Given the description of an element on the screen output the (x, y) to click on. 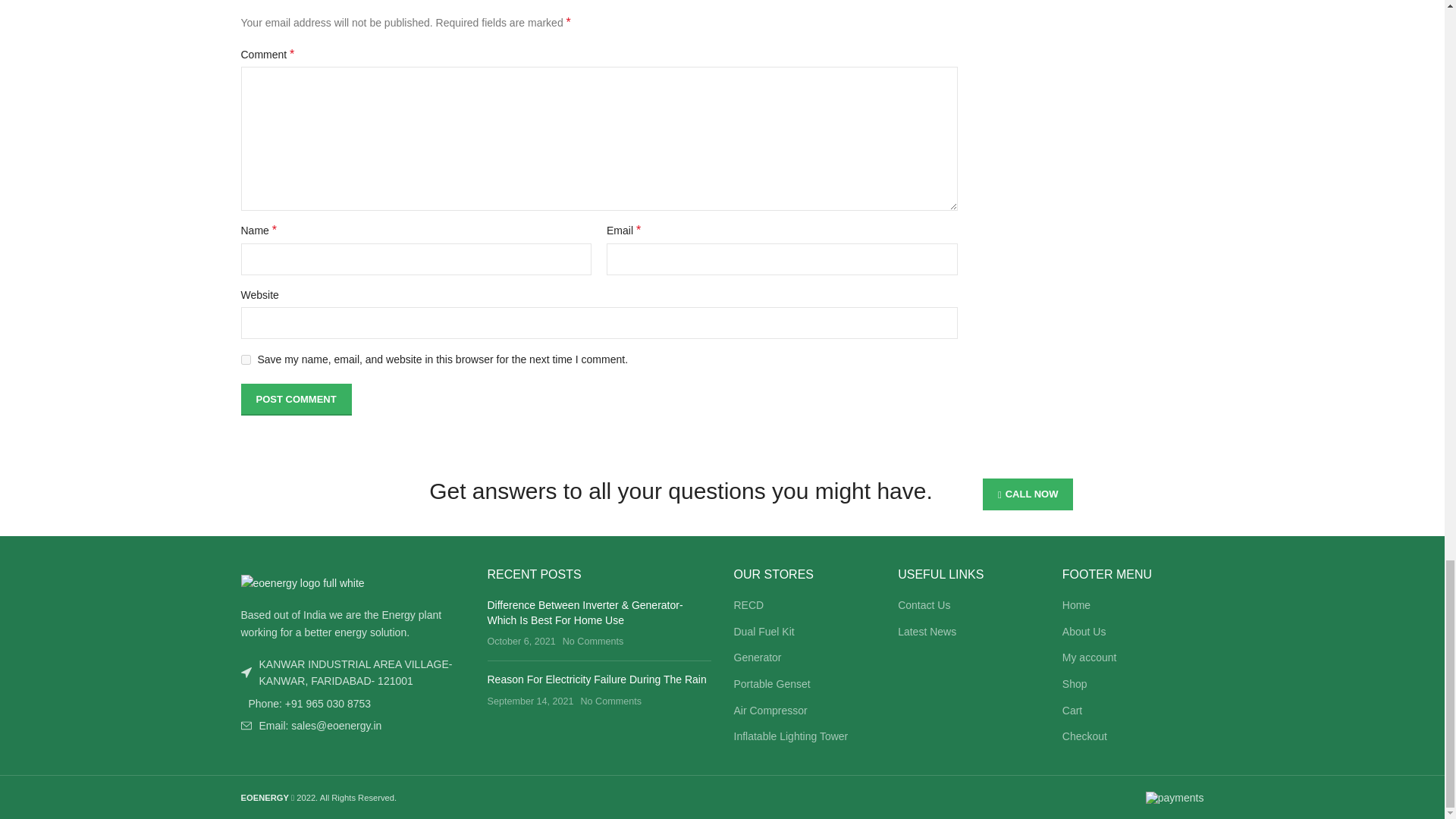
eoenergy-full-white-logo (303, 582)
Permalink to Reason For Electricity Failure During The Rain (596, 679)
Post Comment (296, 399)
yes (245, 359)
wd-cursor-light (246, 672)
Post Comment (296, 399)
wd-envelope-light (246, 725)
